Given the description of an element on the screen output the (x, y) to click on. 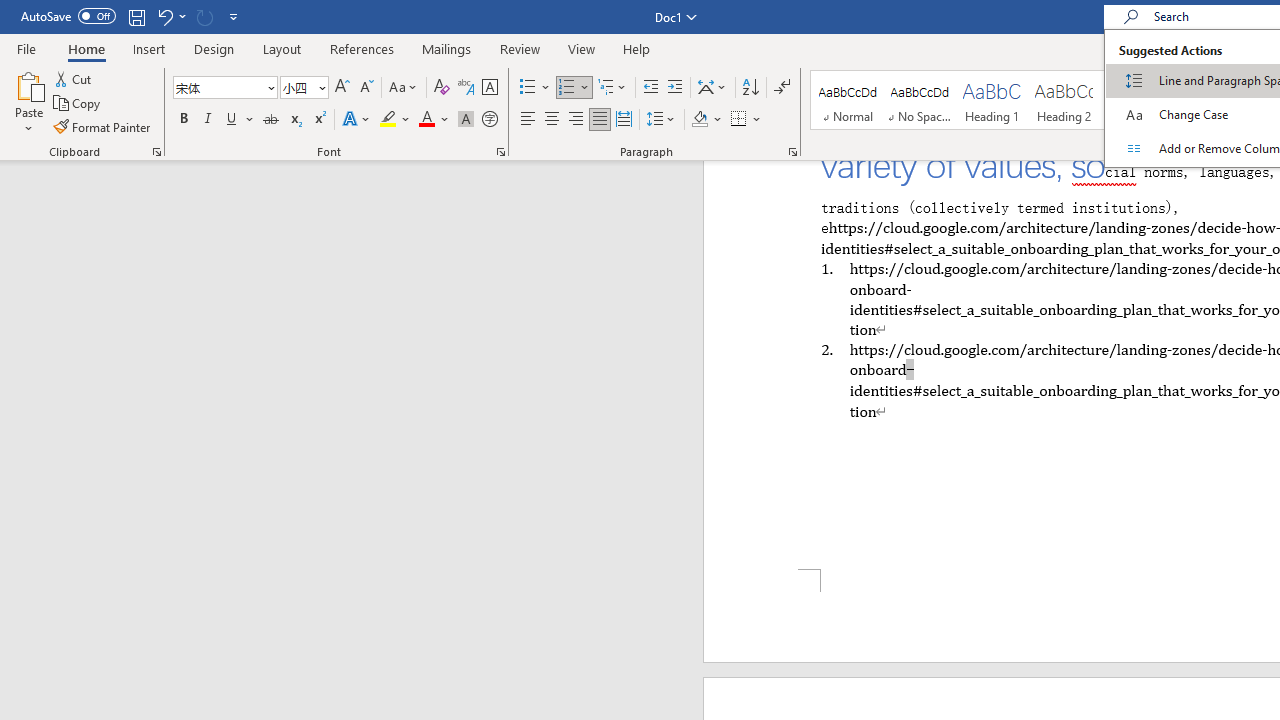
Underline (239, 119)
Open (320, 87)
Font Color Automatic (426, 119)
Sort... (750, 87)
Home (86, 48)
Font (224, 87)
Bold (183, 119)
Text Effects and Typography (357, 119)
Enclose Characters... (489, 119)
Show/Hide Editing Marks (781, 87)
View (582, 48)
Line and Paragraph Spacing (661, 119)
File Tab (26, 48)
Bullets (527, 87)
